Given the description of an element on the screen output the (x, y) to click on. 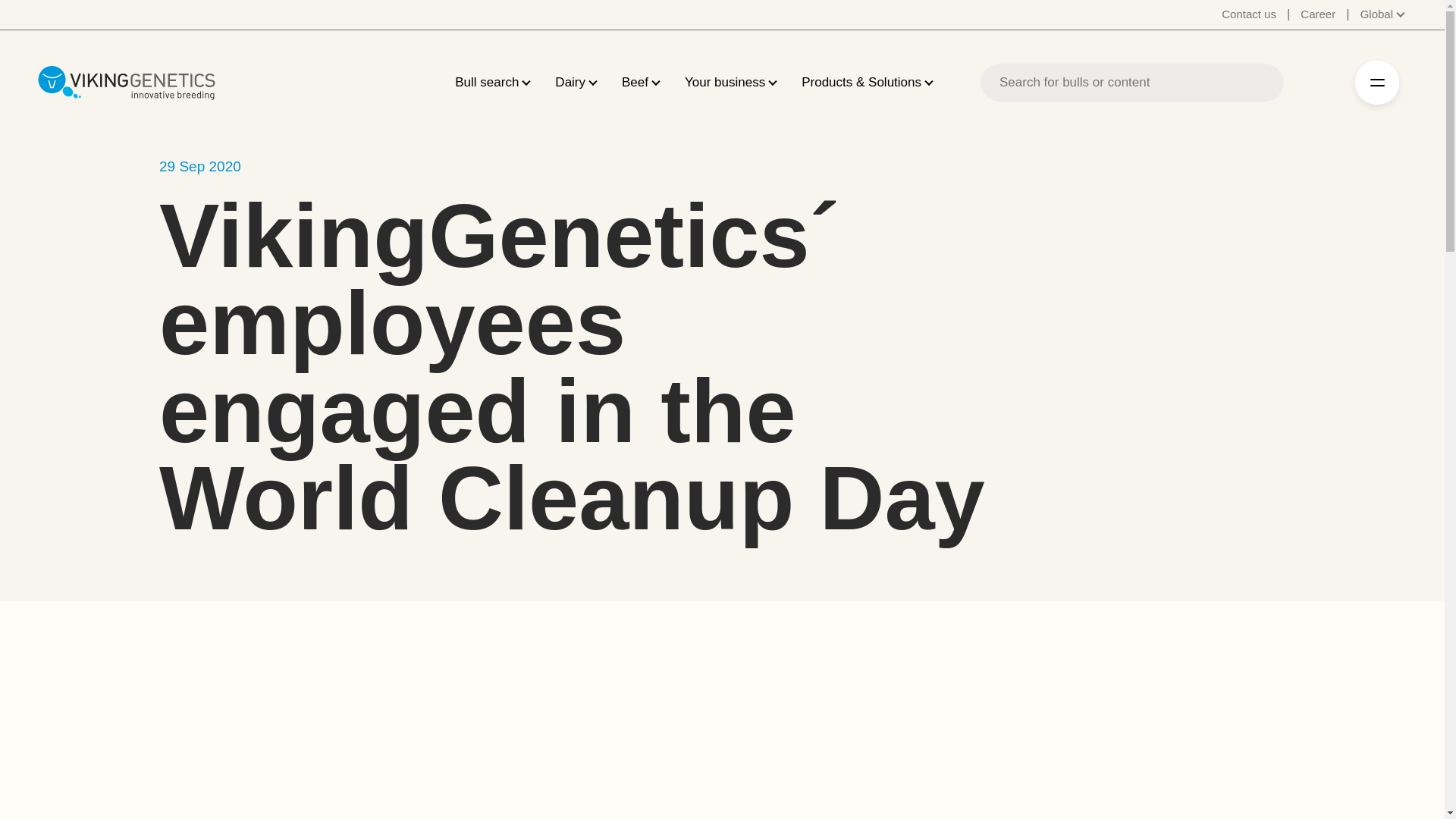
Bull search (486, 83)
Career (1317, 13)
Beef (634, 83)
Contact us (1248, 13)
Global (1382, 13)
Viking Genetics - innovative breeding (126, 82)
Your business (724, 83)
Dairy (569, 83)
Viking Genetics - innovative breeding (126, 82)
